Given the description of an element on the screen output the (x, y) to click on. 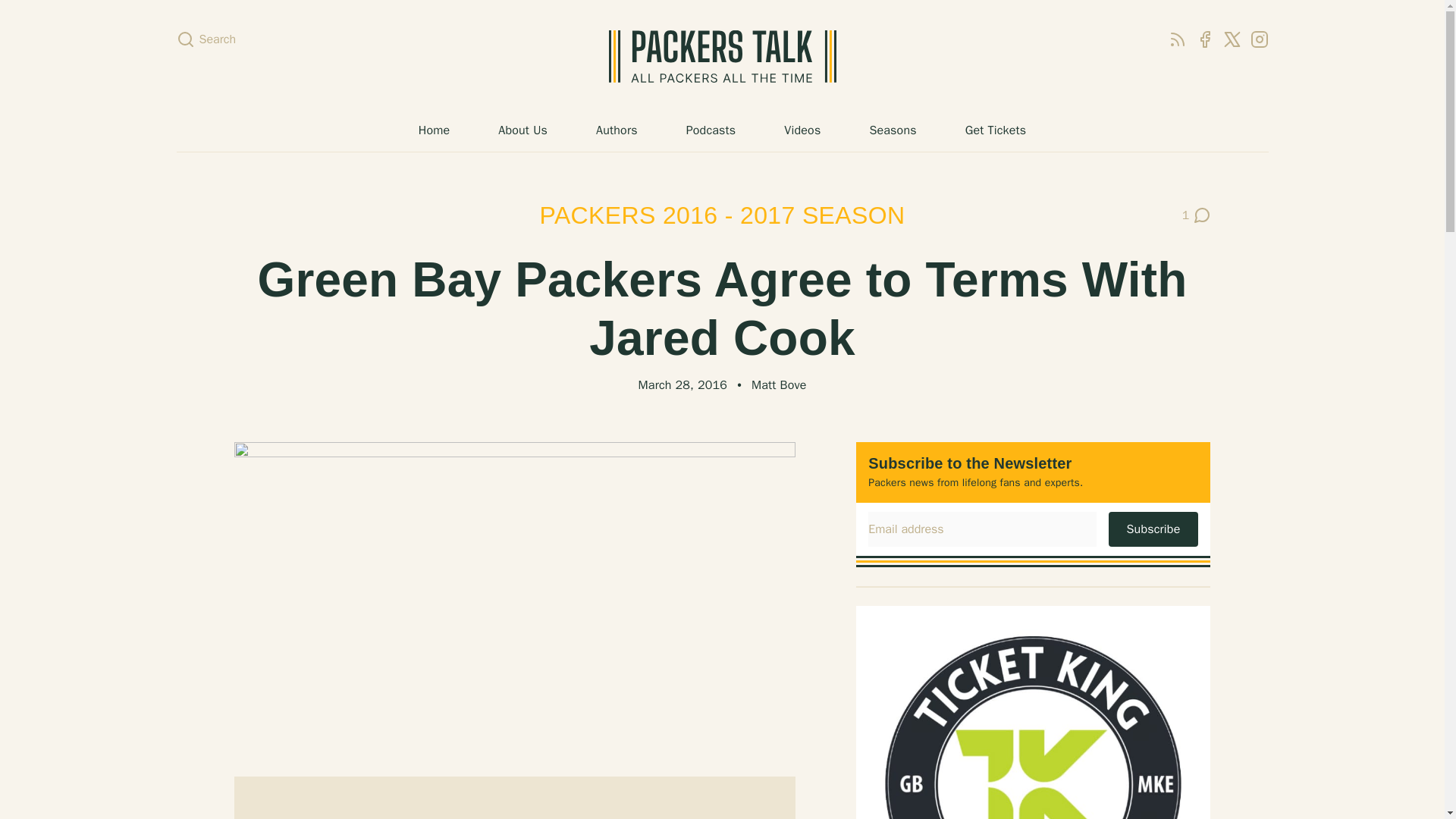
Get Tickets (995, 129)
Comments (1196, 215)
PACKERS 2016 - 2017 SEASON (1196, 215)
PackersTalk on Instagram (722, 215)
Seasons (1258, 39)
PackersTalk RSS Feed (892, 129)
Videos (1176, 39)
RSS (802, 129)
PackersTalk on Facebook (1176, 39)
